Given the description of an element on the screen output the (x, y) to click on. 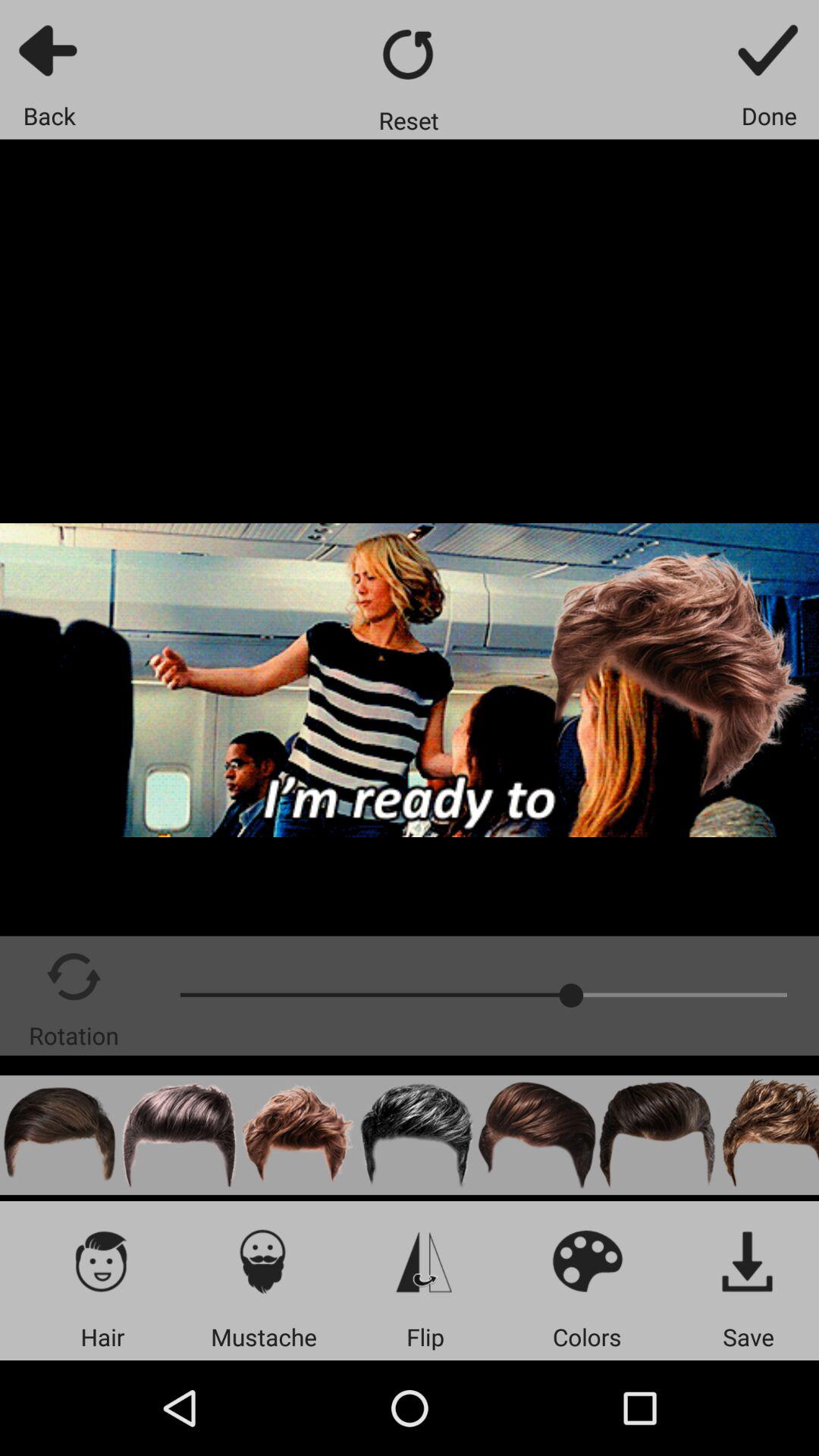
select second hairstyle (178, 1134)
